Given the description of an element on the screen output the (x, y) to click on. 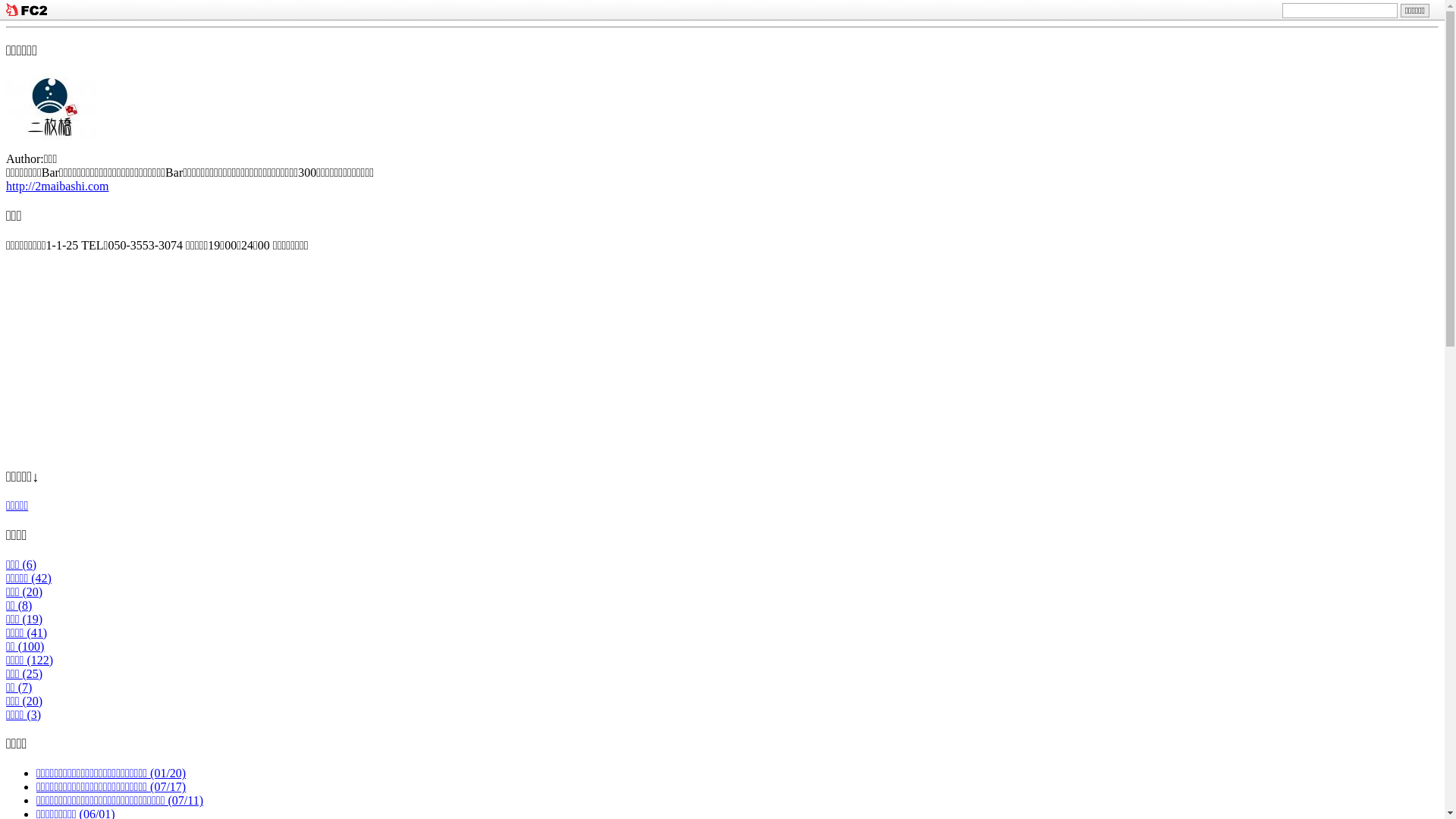
http://2maibashi.com Element type: text (57, 185)
